Given the description of an element on the screen output the (x, y) to click on. 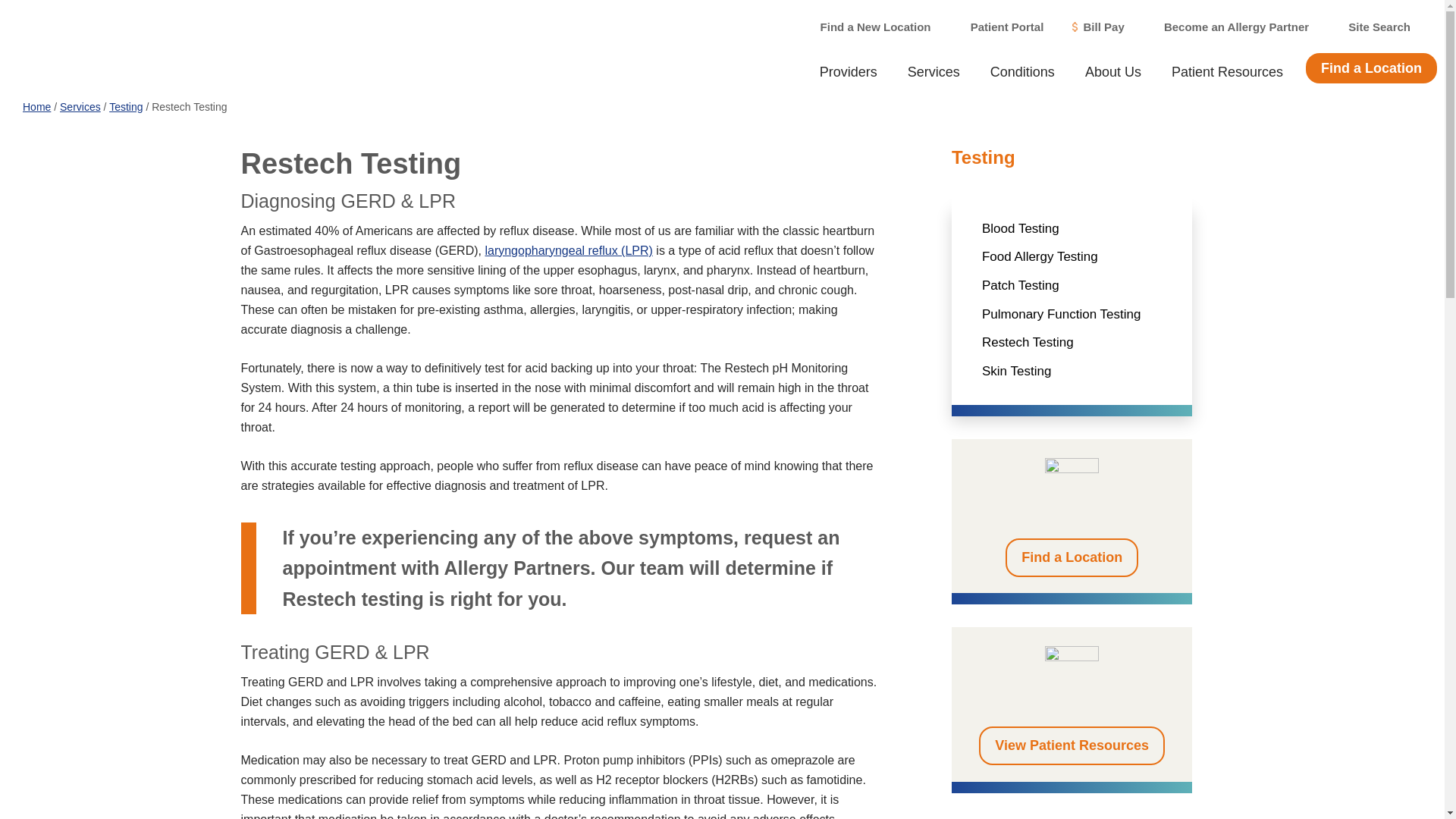
Find a New Location (868, 26)
location-icon (1072, 484)
Site Search (1372, 26)
Providers (848, 71)
Bill Pay (1096, 26)
Patient Portal (999, 26)
Become an Allergy Partner (1230, 26)
Services (933, 71)
Find a Location (1072, 557)
